Given the description of an element on the screen output the (x, y) to click on. 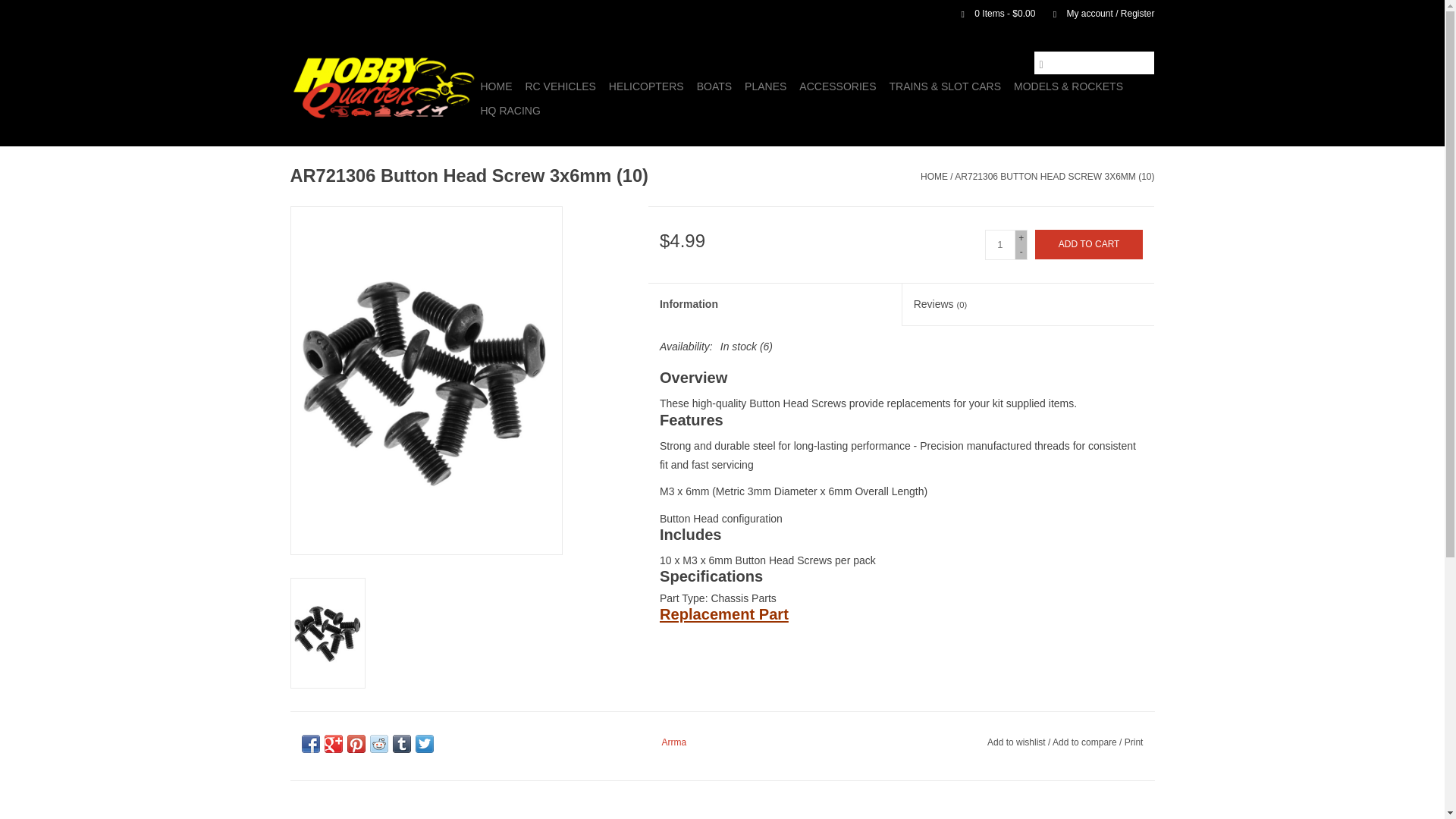
HOME (496, 86)
My account (1096, 13)
Cart (992, 13)
RC Vehicles (559, 86)
1 (999, 245)
HobbyQuarters (382, 86)
RC VEHICLES (559, 86)
